Given the description of an element on the screen output the (x, y) to click on. 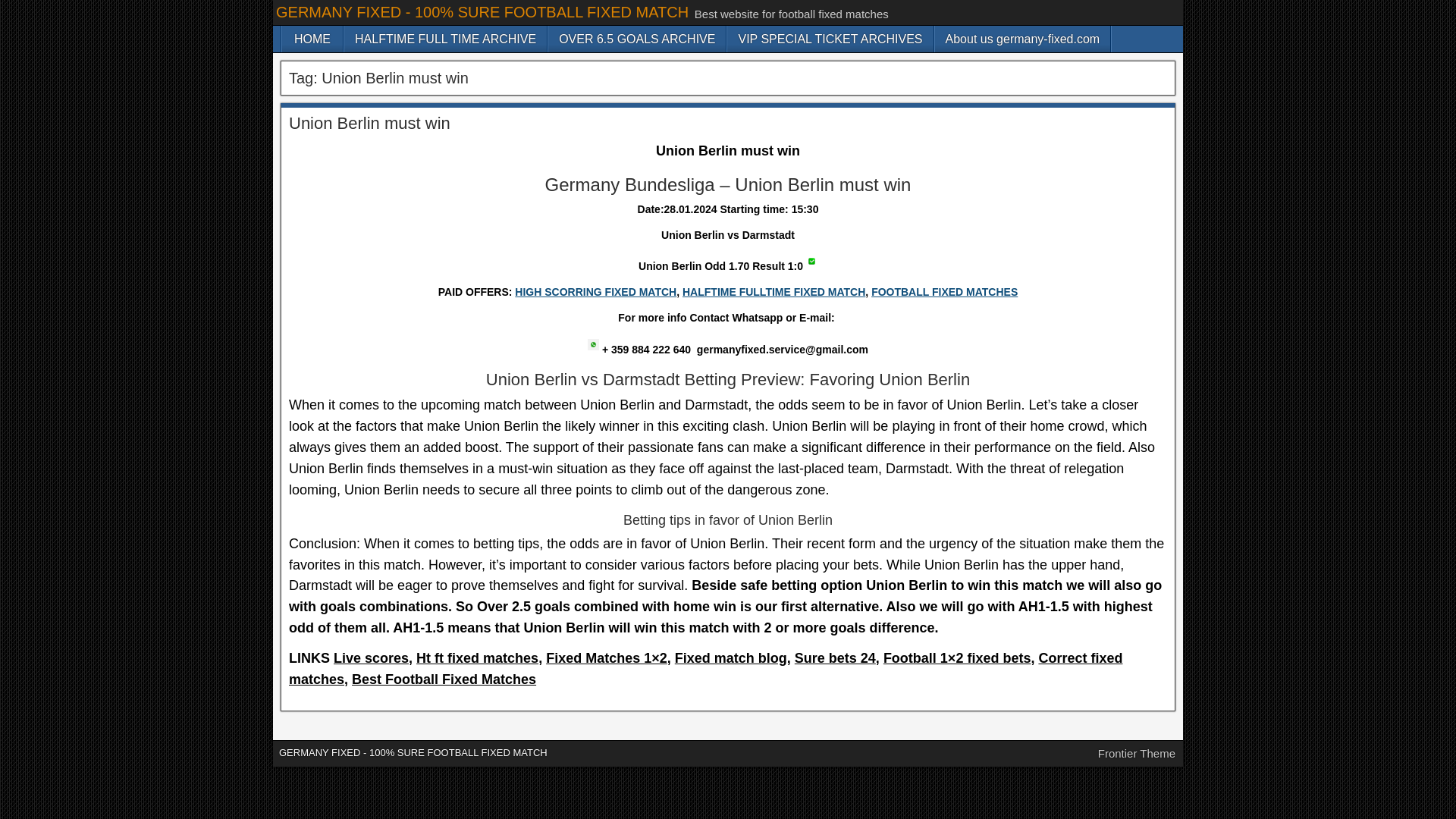
Union Berlin must win (368, 122)
About us germany-fixed.com (1022, 38)
HALFTIME FULL TIME ARCHIVE (445, 38)
HALFTIME FULLTIME FIXED MATCH (773, 291)
Sure bets 24 (835, 657)
VIP SPECIAL TICKET ARCHIVES (829, 38)
HIGH SCORRING FIXED MATCH (596, 291)
Union Berlin must win (811, 260)
Live scores (371, 657)
OVER 6.5 GOALS ARCHIVE (636, 38)
